Given the description of an element on the screen output the (x, y) to click on. 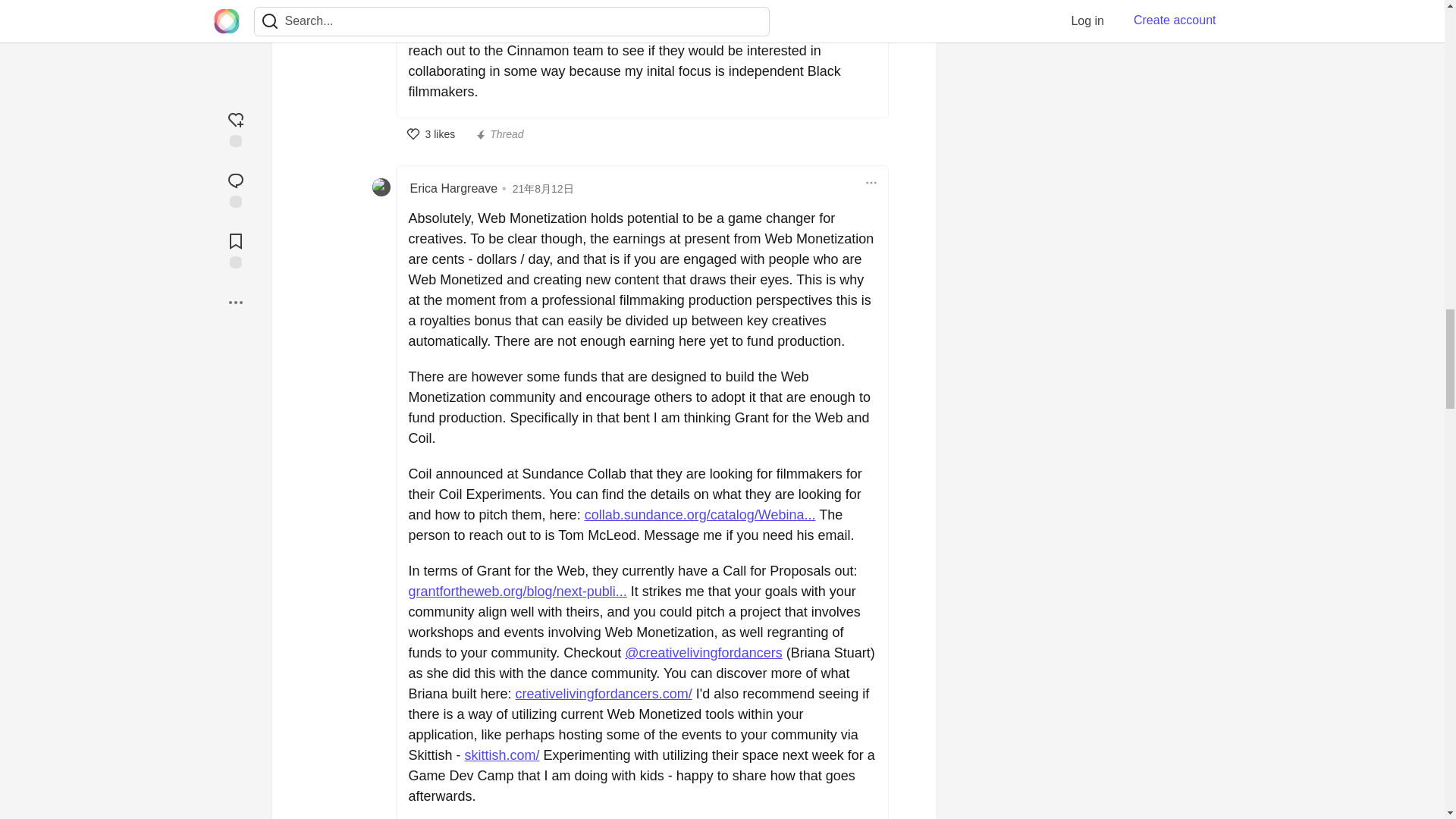
Dropdown menu (870, 182)
